Given the description of an element on the screen output the (x, y) to click on. 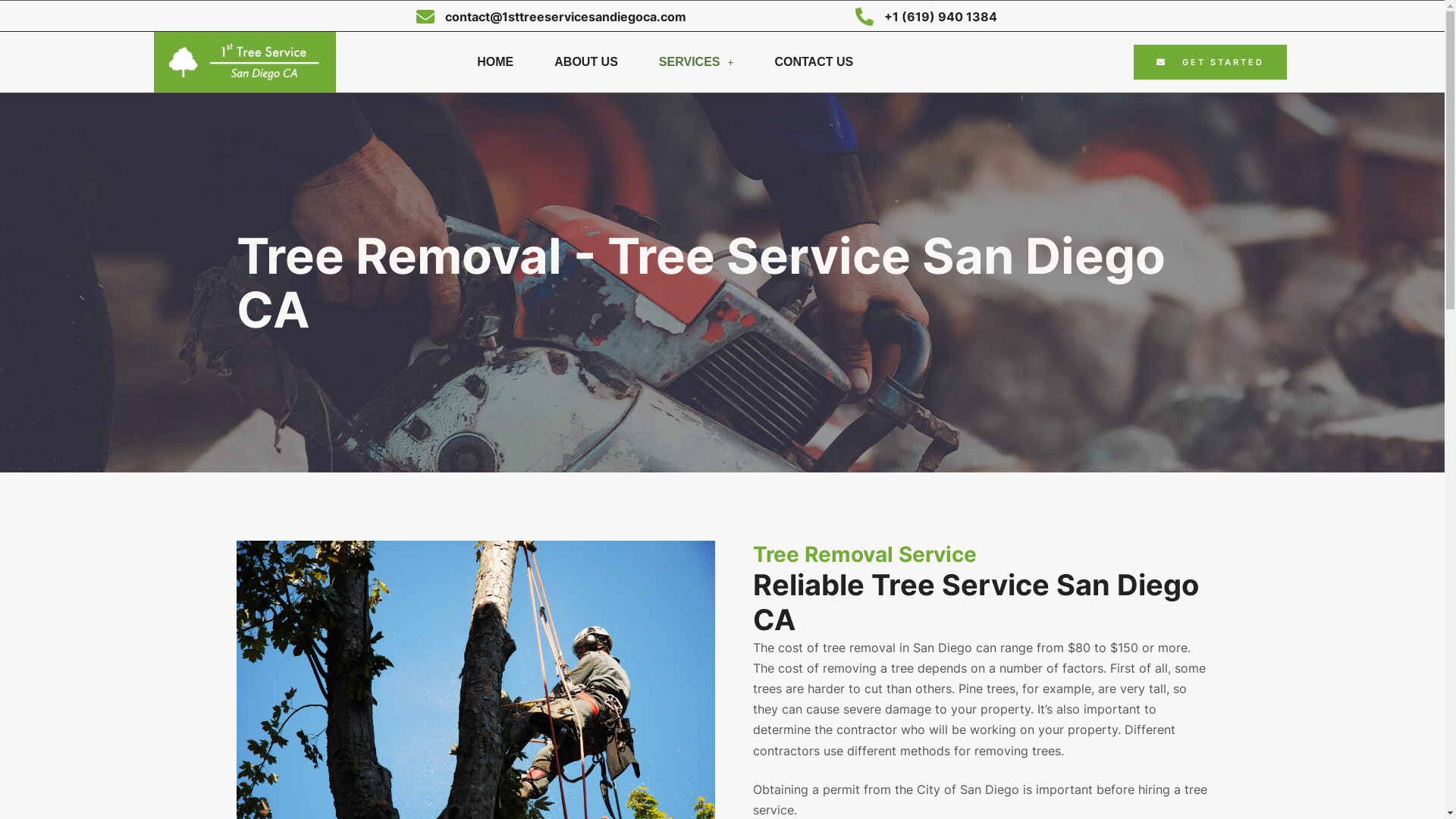
ABOUT US Element type: text (585, 61)
HOME Element type: text (494, 61)
+1 (619) 940 1384 Element type: text (940, 16)
GET STARTED Element type: text (1209, 62)
SERVICES Element type: text (696, 61)
CONTACT US Element type: text (813, 61)
